Given the description of an element on the screen output the (x, y) to click on. 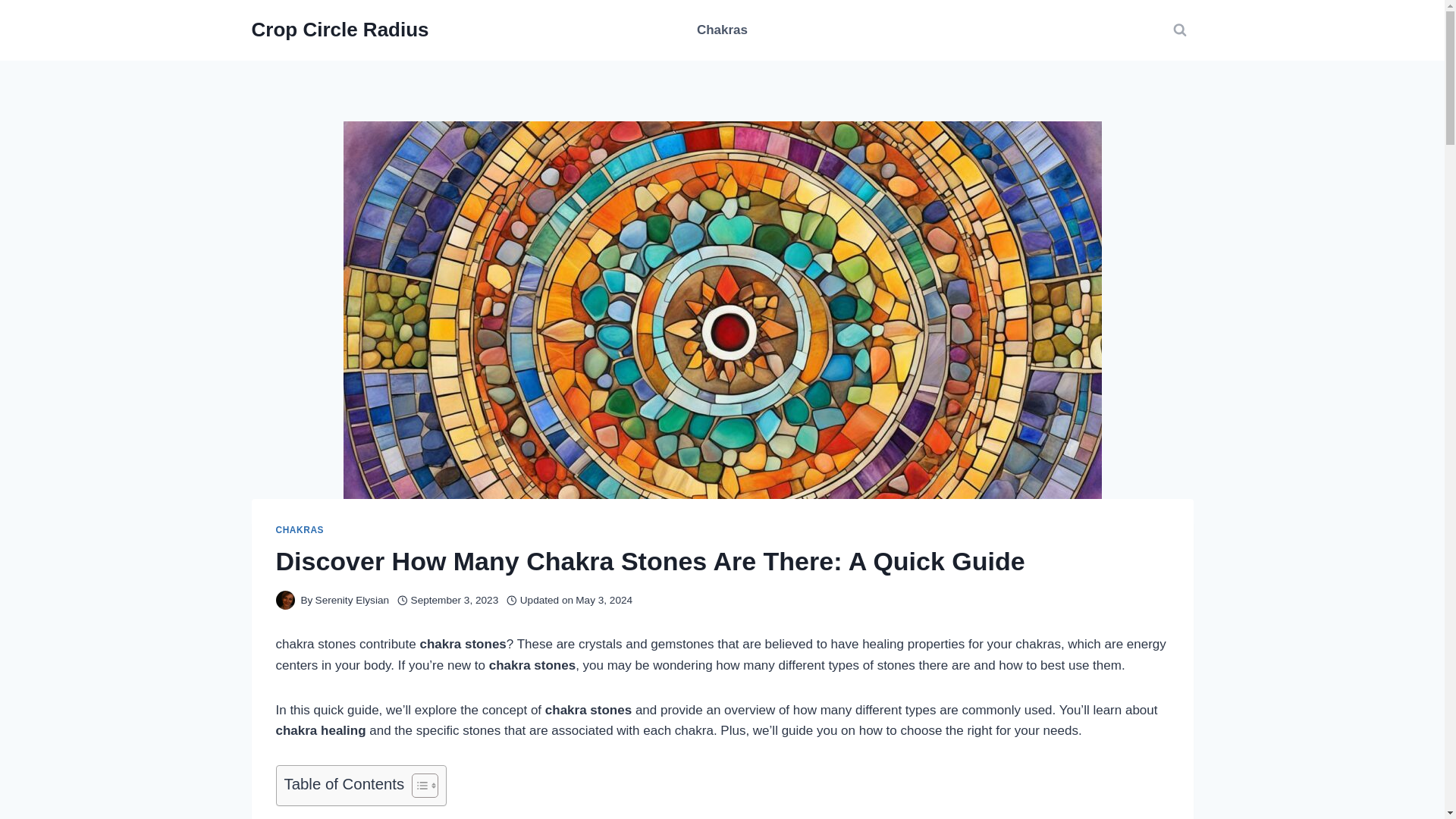
Crop Circle Radius (340, 29)
Serenity Elysian (351, 600)
Chakras (721, 30)
CHAKRAS (300, 529)
